Given the description of an element on the screen output the (x, y) to click on. 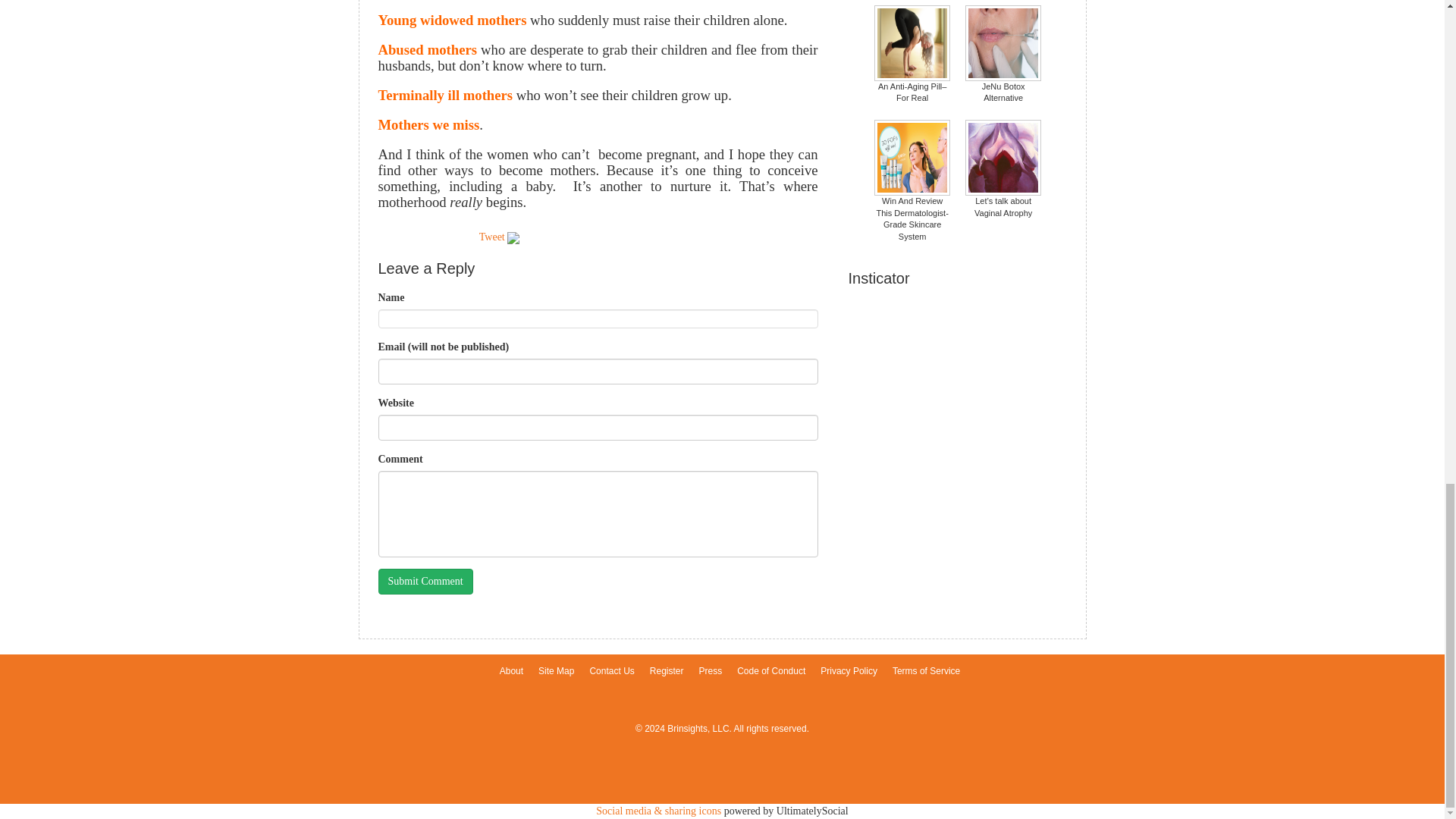
Submit Comment (424, 581)
JeNu Botox Alternative (1003, 53)
Win And Review This Dermatologist-Grade Skincare System (912, 179)
Tweet (492, 236)
Submit Comment (424, 581)
Permanent link to JeNu Botox Alternative (1003, 53)
